Given the description of an element on the screen output the (x, y) to click on. 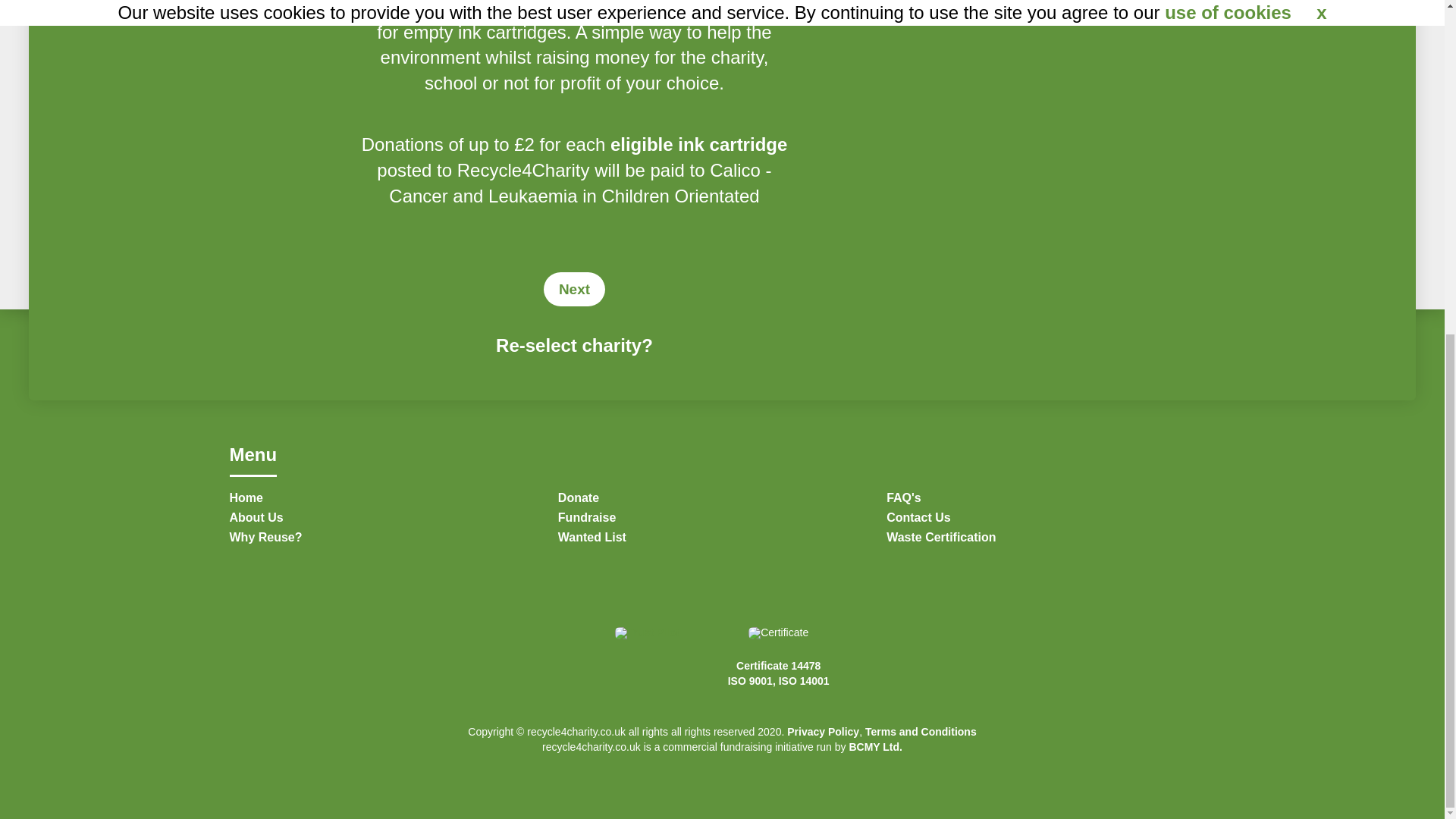
Wanted List (721, 541)
Fundraise (721, 521)
FAQ's (1050, 501)
Re-select charity? (574, 344)
Contact Us (1050, 521)
Next (574, 288)
Waste Certification (1050, 541)
Home (392, 501)
eligible ink cartridge (698, 144)
Why Reuse? (392, 541)
About Us (392, 521)
Donate (721, 501)
